Given the description of an element on the screen output the (x, y) to click on. 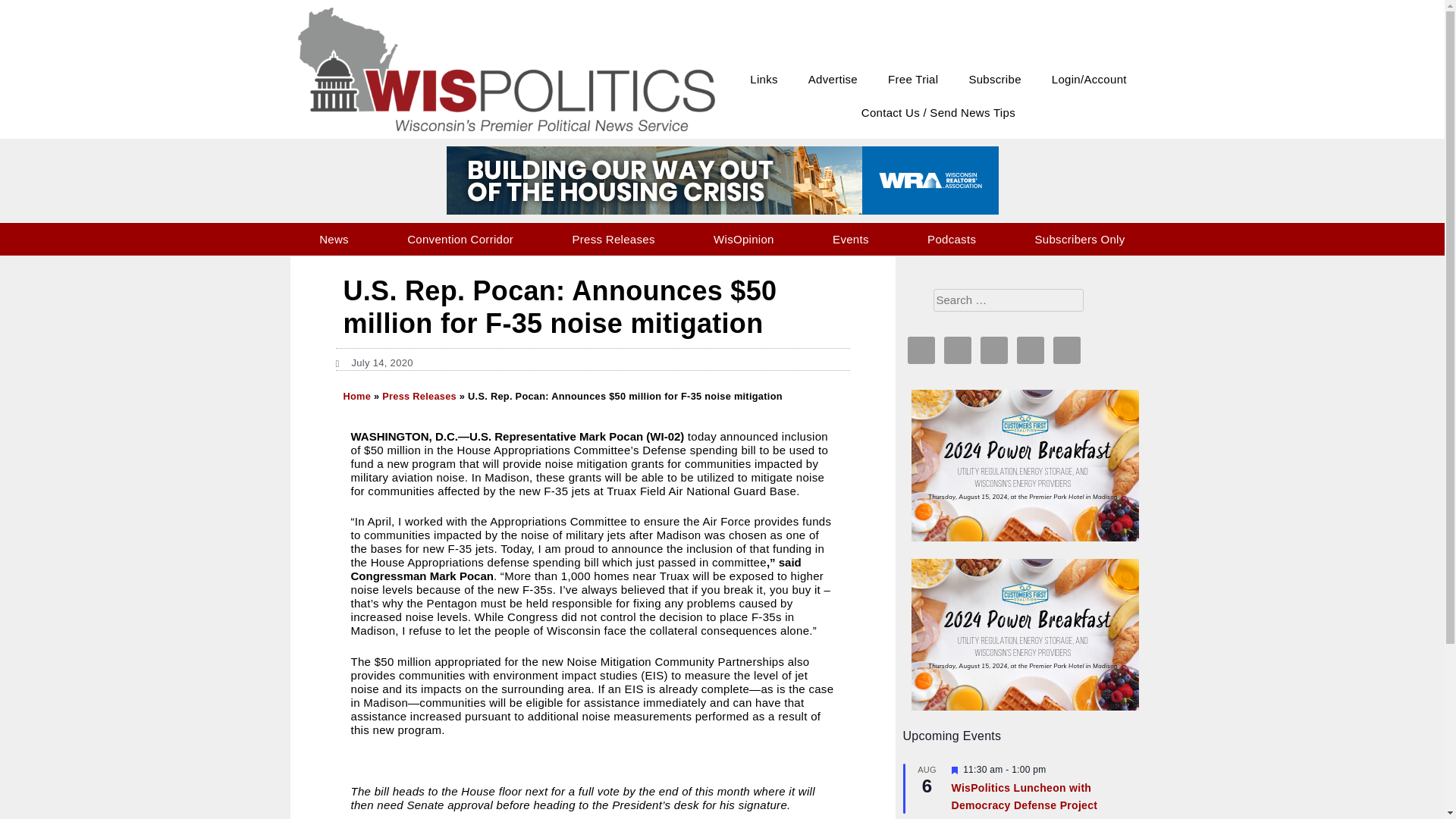
WisPolitics Luncheon with Democracy Defense Project (1023, 797)
WisOpinion (743, 239)
Subscribe (994, 79)
Convention Corridor (460, 239)
Advertise (832, 79)
Subscribers Only (1080, 239)
News (333, 239)
Free Trial (912, 79)
Press Releases (613, 239)
Links (764, 79)
Events (850, 239)
Podcasts (951, 239)
